Given the description of an element on the screen output the (x, y) to click on. 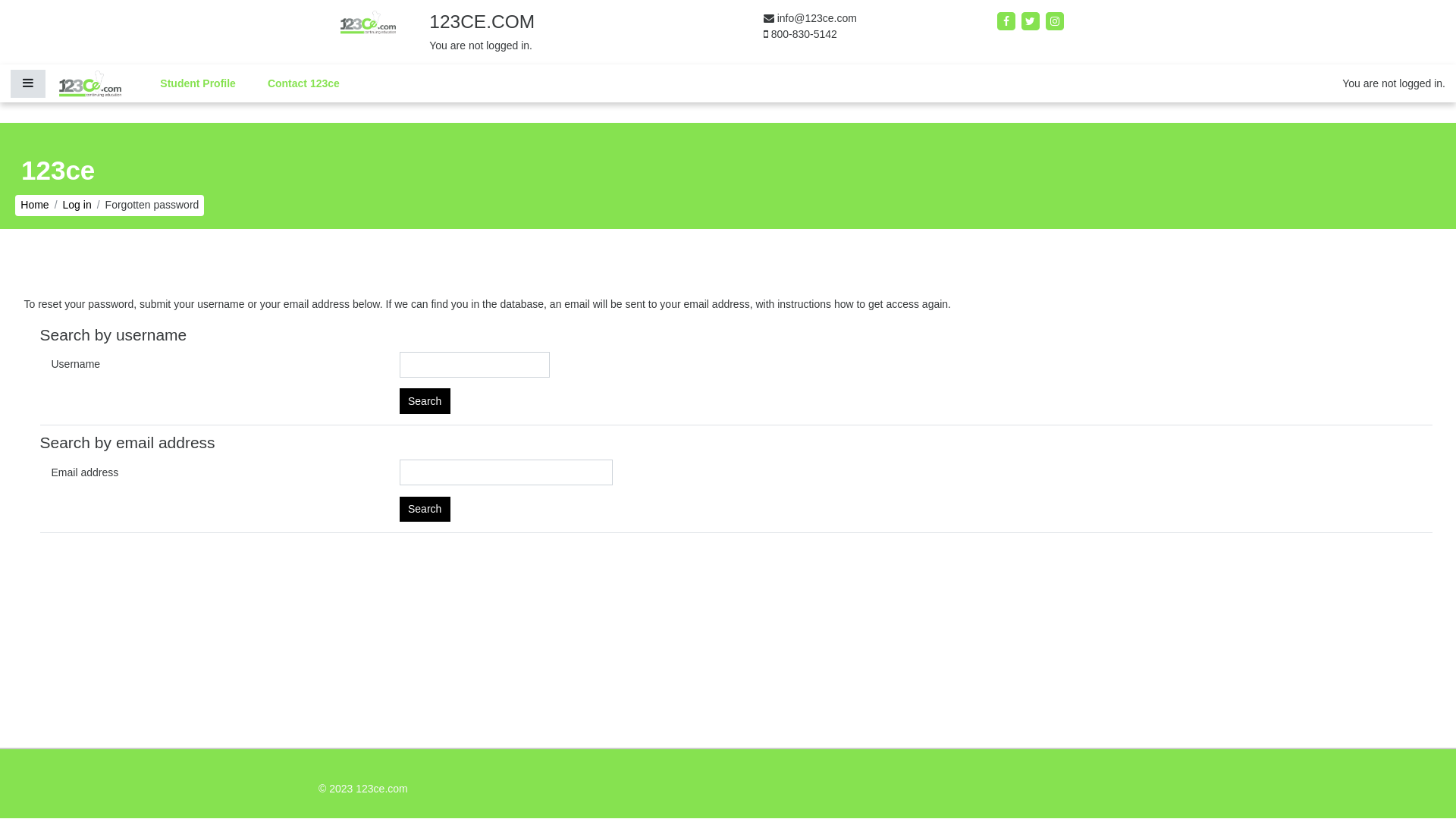
https://www.instagram.com/123cecom/ Element type: text (1054, 20)
Search Element type: text (423, 401)
Home Element type: text (34, 205)
Student Profile Element type: text (197, 83)
123ce Element type: text (58, 165)
Log in Element type: text (76, 205)
https://www.facebook.com/123ce/ Element type: text (1007, 20)
https://twitter.com/123ceCom Element type: text (1031, 20)
Side panel Element type: text (27, 83)
Search Element type: text (423, 508)
Contact 123ce Element type: text (303, 83)
